Given the description of an element on the screen output the (x, y) to click on. 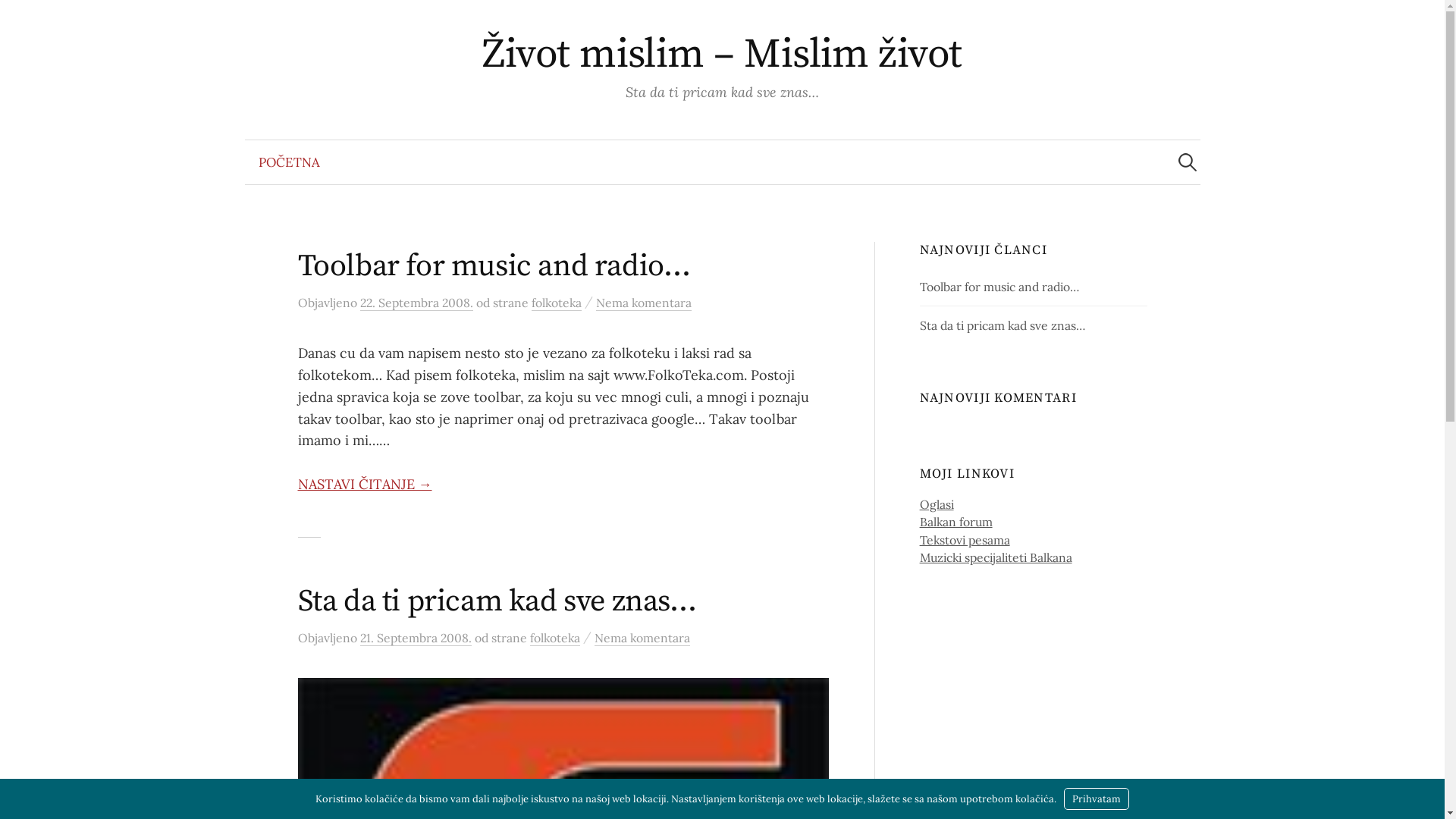
Oglasi Element type: text (936, 503)
Balkan forum Element type: text (955, 521)
folkoteka Element type: text (555, 302)
folkoteka Element type: text (554, 638)
22. Septembra 2008. Element type: text (415, 302)
Pretraga Element type: text (18, 18)
Muzicki specijaliteti Balkana Element type: text (995, 556)
Tekstovi pesama Element type: text (964, 539)
21. Septembra 2008. Element type: text (414, 638)
Prihvatam Element type: text (1096, 798)
